Given the description of an element on the screen output the (x, y) to click on. 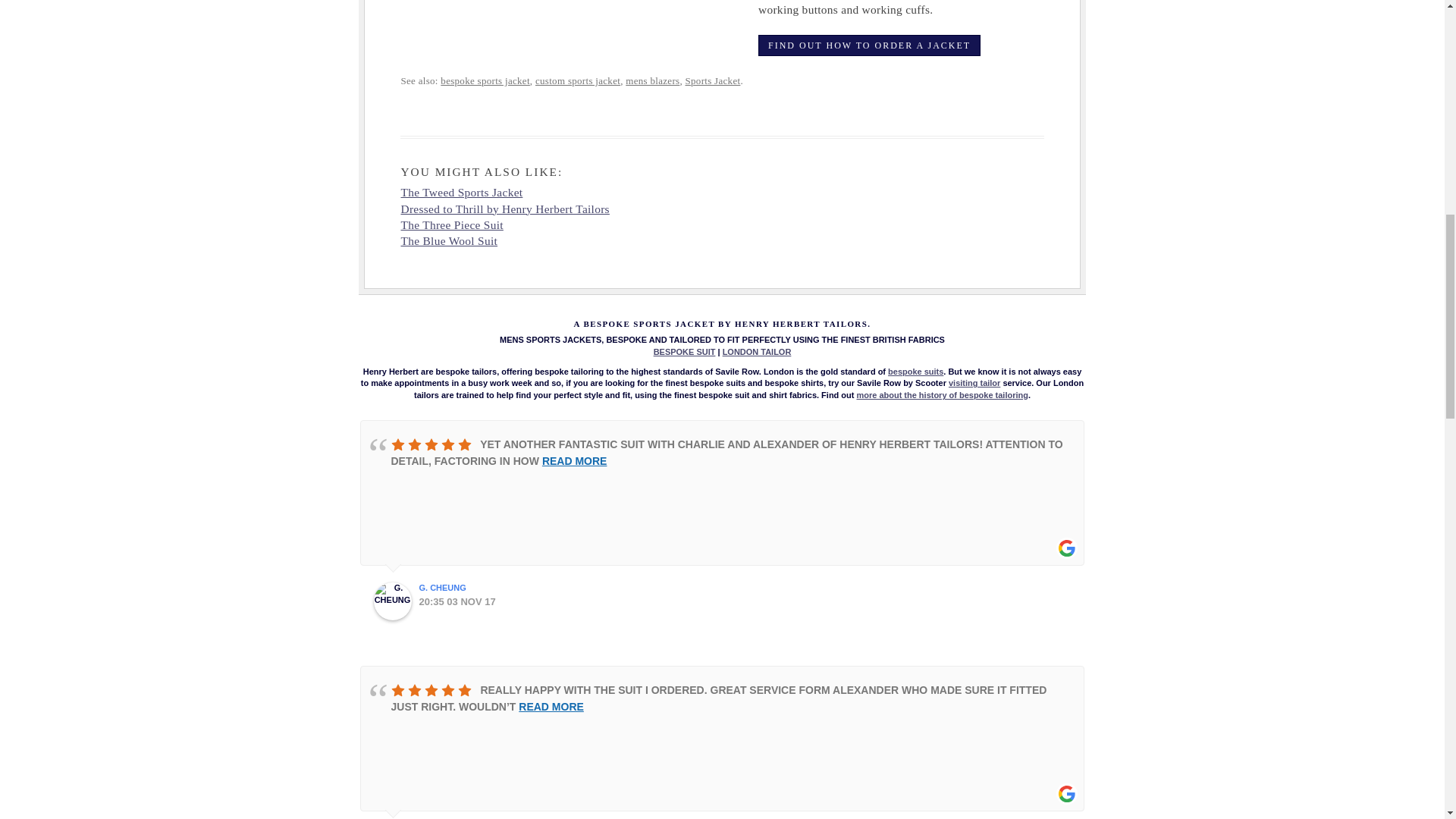
The Blue Wool Suit (448, 240)
Dressed to Thrill by Henry Herbert Tailors (504, 208)
Sports Jacket (713, 80)
The Tweed Sports Jacket (461, 192)
bespoke sports jacket (485, 80)
custom sports jacket (577, 80)
FIND OUT HOW TO ORDER A JACKET (868, 45)
The Three Piece Suit (451, 224)
Dressed to Thrill by Henry Herbert Tailors (504, 208)
The Tweed Sports Jacket (461, 192)
